Given the description of an element on the screen output the (x, y) to click on. 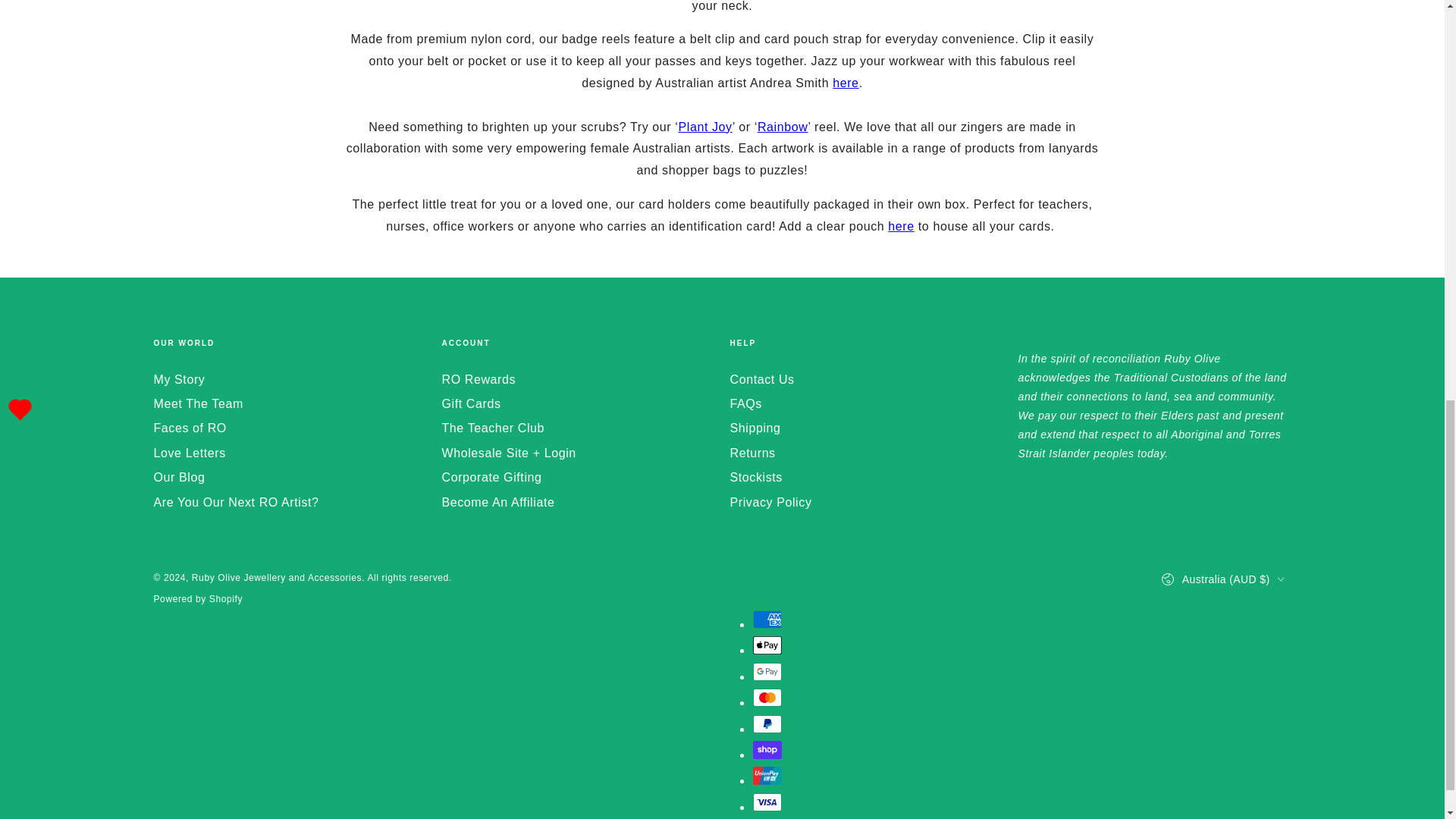
American Express (766, 619)
Mastercard (766, 697)
Google Pay (766, 671)
Union Pay (766, 775)
PayPal (766, 723)
Apple Pay (766, 645)
Shop Pay (766, 750)
